Given the description of an element on the screen output the (x, y) to click on. 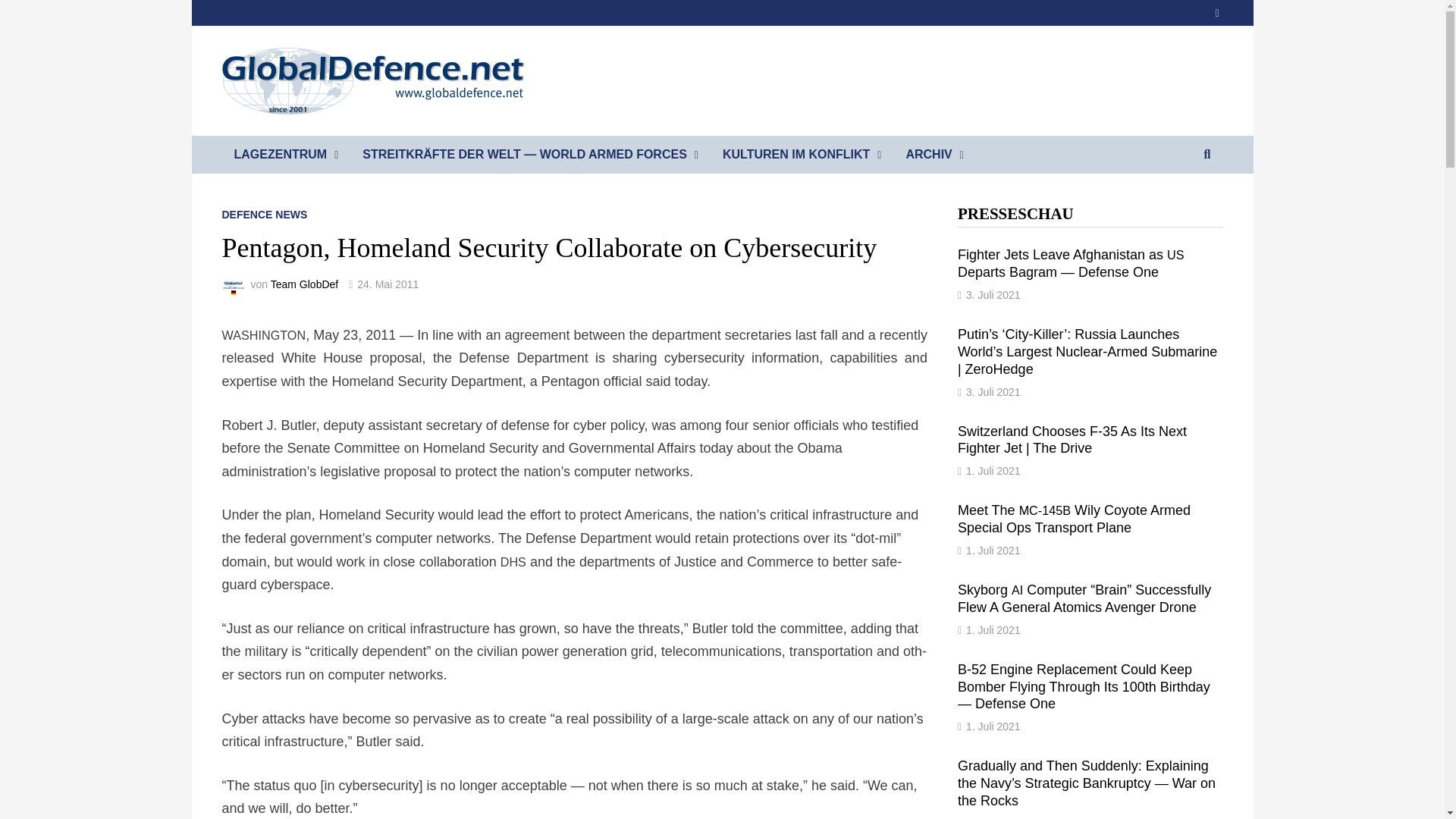
ARCHIV (934, 154)
KULTUREN IM KONFLIKT (801, 154)
LAGEZENTRUM (285, 154)
